Given the description of an element on the screen output the (x, y) to click on. 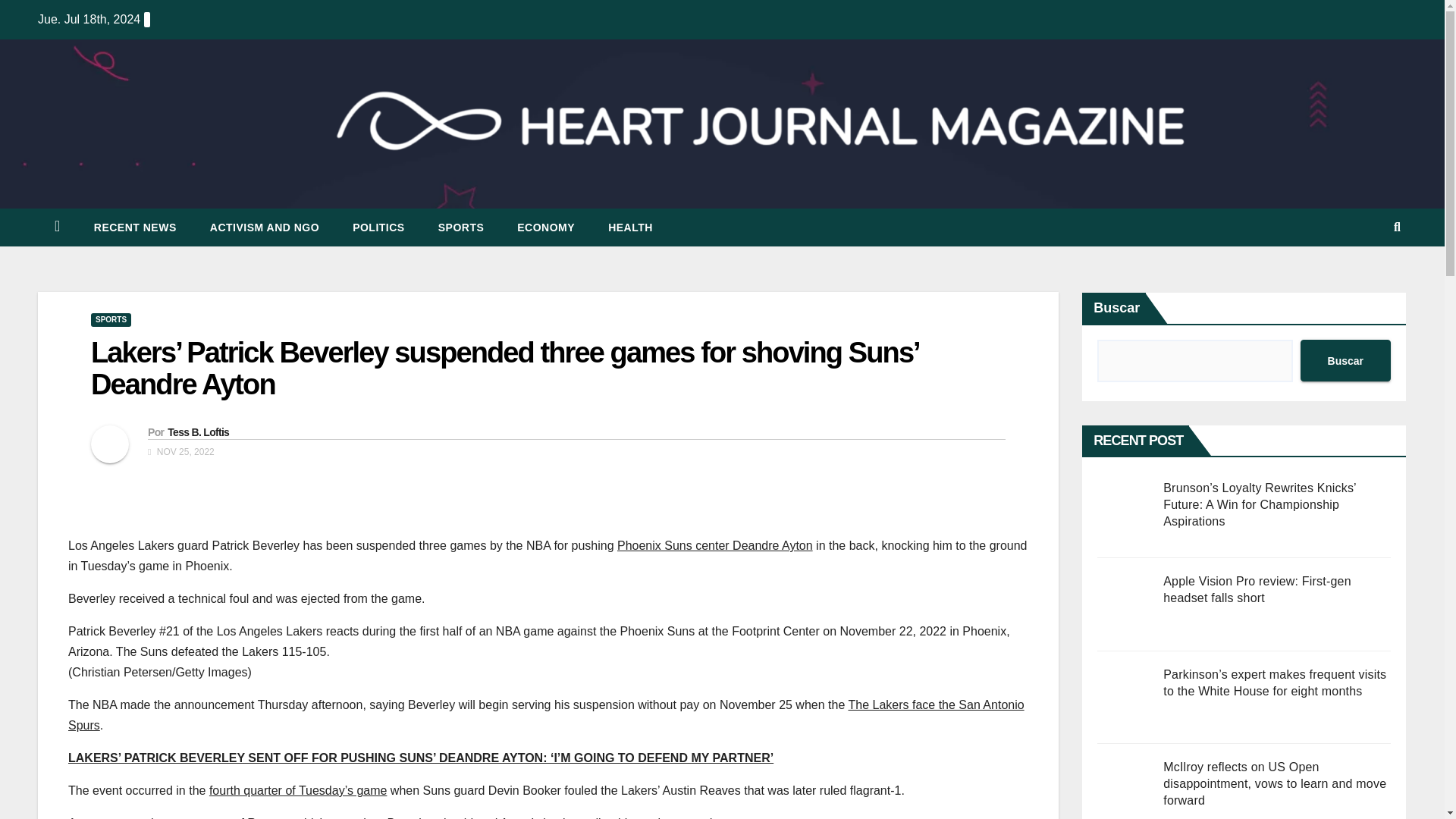
SPORTS (461, 227)
Buscar (1345, 360)
RECENT NEWS (135, 227)
HEALTH (630, 227)
ECONOMY (545, 227)
Politics (379, 227)
SPORTS (110, 319)
Recent news (135, 227)
POLITICS (379, 227)
Health (630, 227)
Tess B. Loftis (197, 431)
Economy (545, 227)
Activism and NGO (264, 227)
Sports (461, 227)
ACTIVISM AND NGO (264, 227)
